Given the description of an element on the screen output the (x, y) to click on. 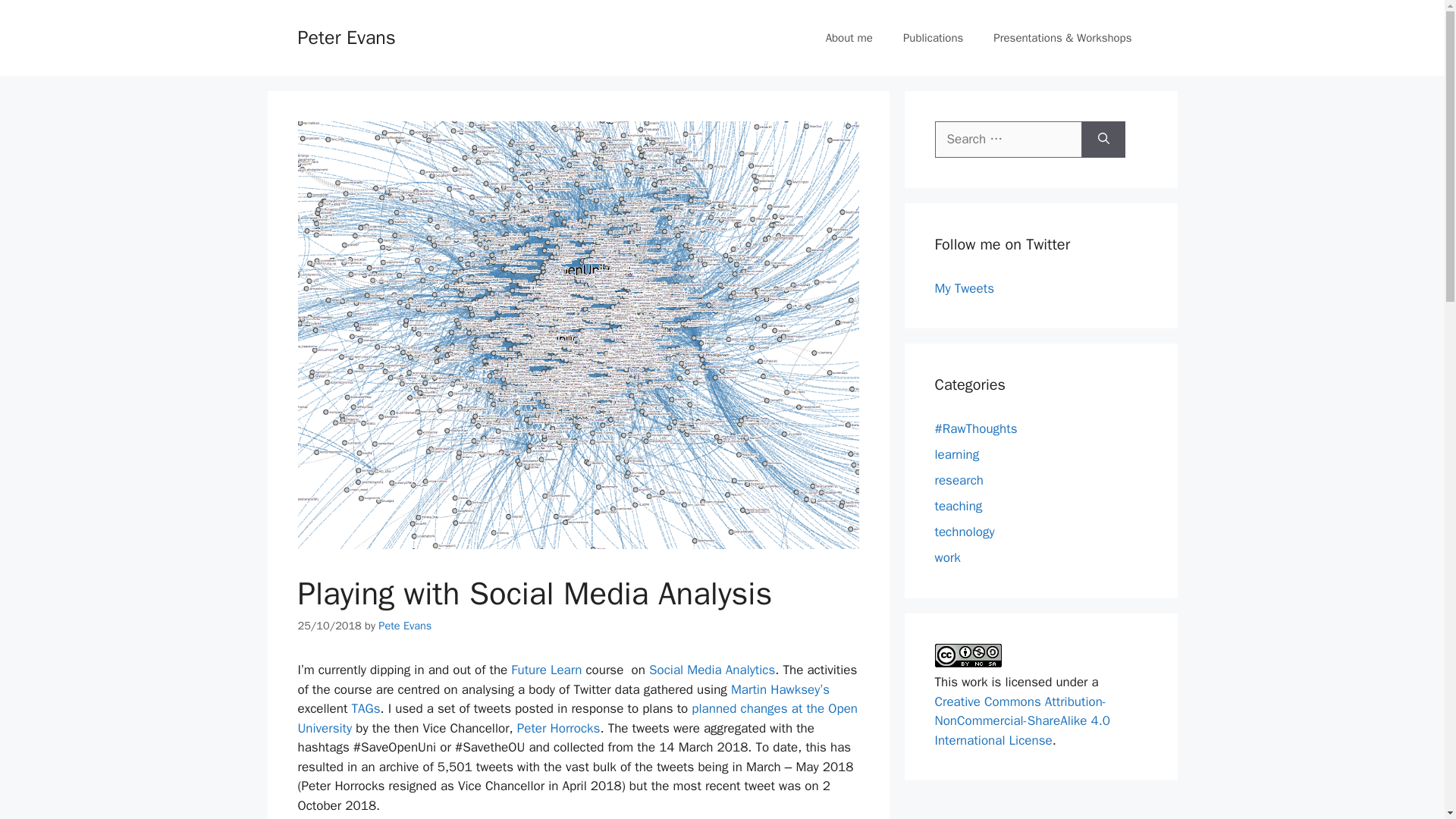
technology (964, 531)
Pete Evans (404, 625)
TAGs (365, 708)
research (959, 480)
About me (849, 37)
Social Media Analytics (711, 669)
Future Learn (545, 669)
teaching (957, 505)
My Tweets (963, 288)
Publications (933, 37)
Peter Horrocks (557, 728)
View all posts by Pete Evans (404, 625)
Search for: (1007, 139)
Peter Evans (345, 37)
